Given the description of an element on the screen output the (x, y) to click on. 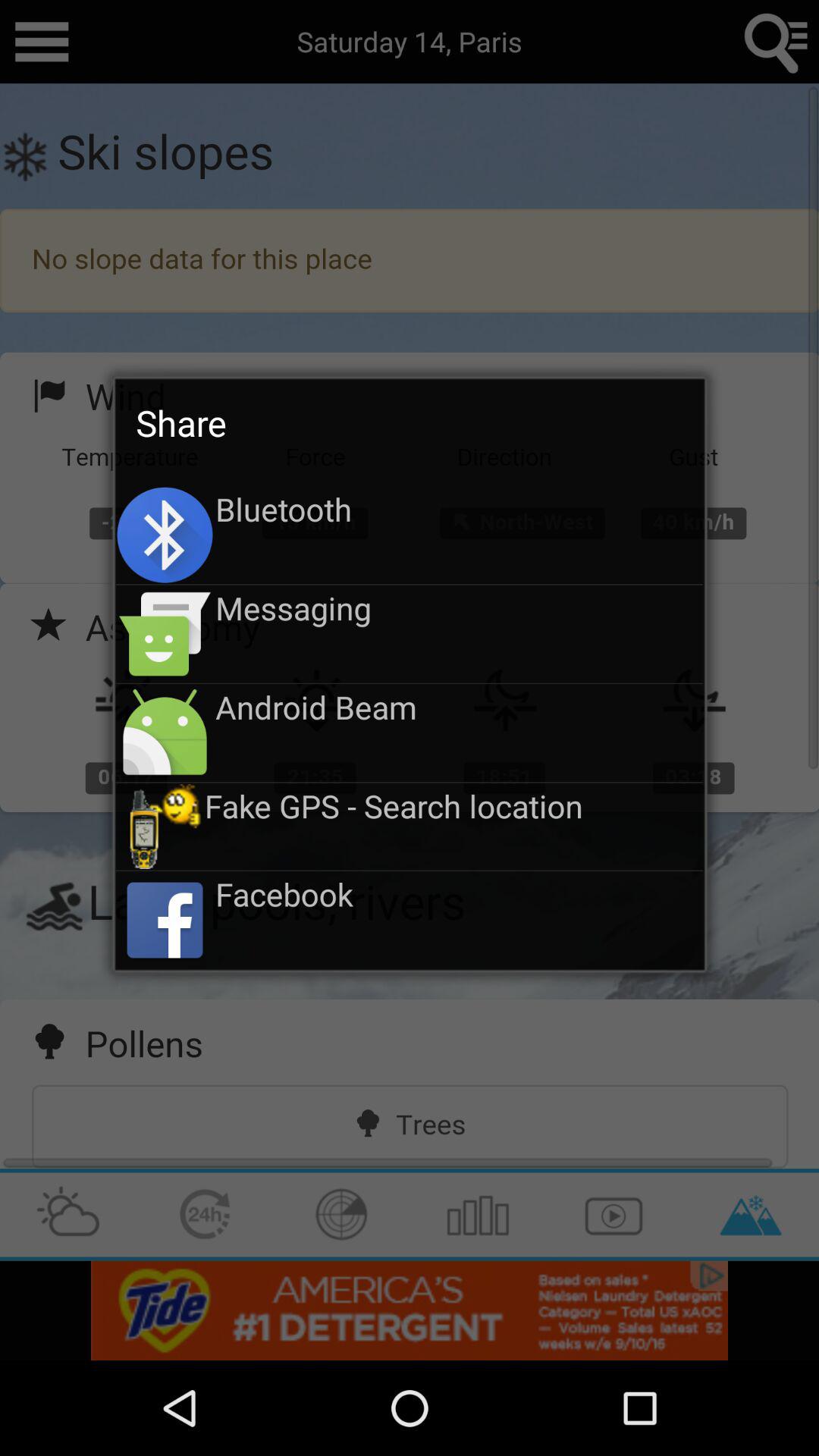
jump to the android beam (458, 706)
